Given the description of an element on the screen output the (x, y) to click on. 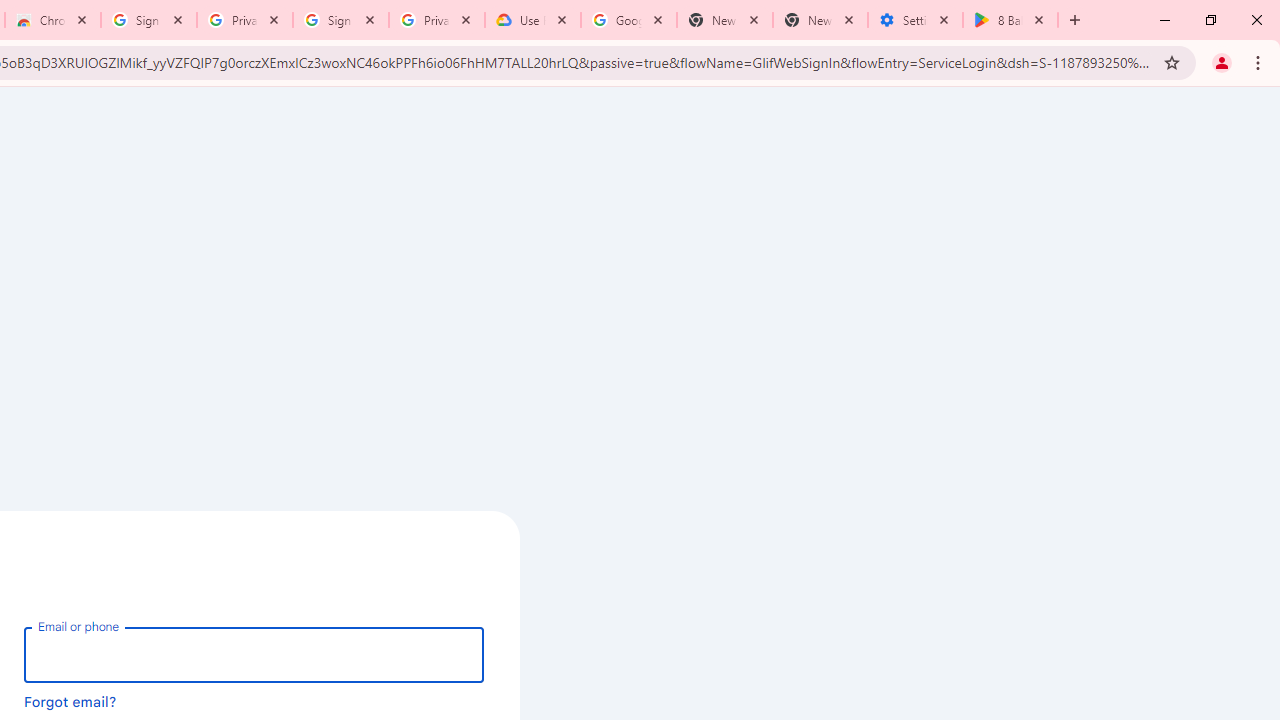
Settings - System (914, 20)
8 Ball Pool - Apps on Google Play (1010, 20)
Sign in - Google Accounts (149, 20)
Forgot email? (70, 701)
New Tab (820, 20)
Sign in - Google Accounts (341, 20)
